Given the description of an element on the screen output the (x, y) to click on. 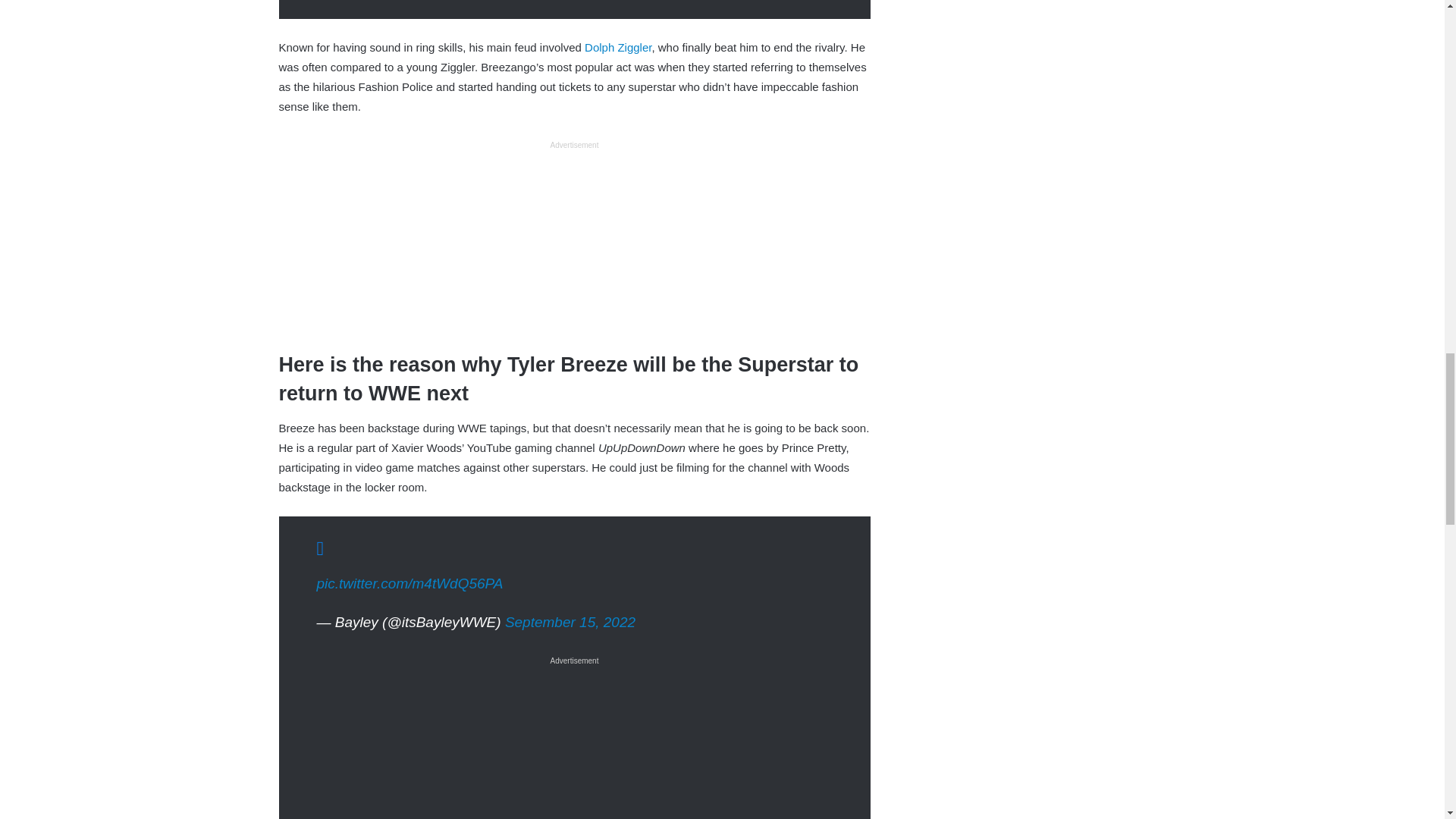
September 15, 2022 (569, 621)
Dolph Ziggler (617, 47)
